Given the description of an element on the screen output the (x, y) to click on. 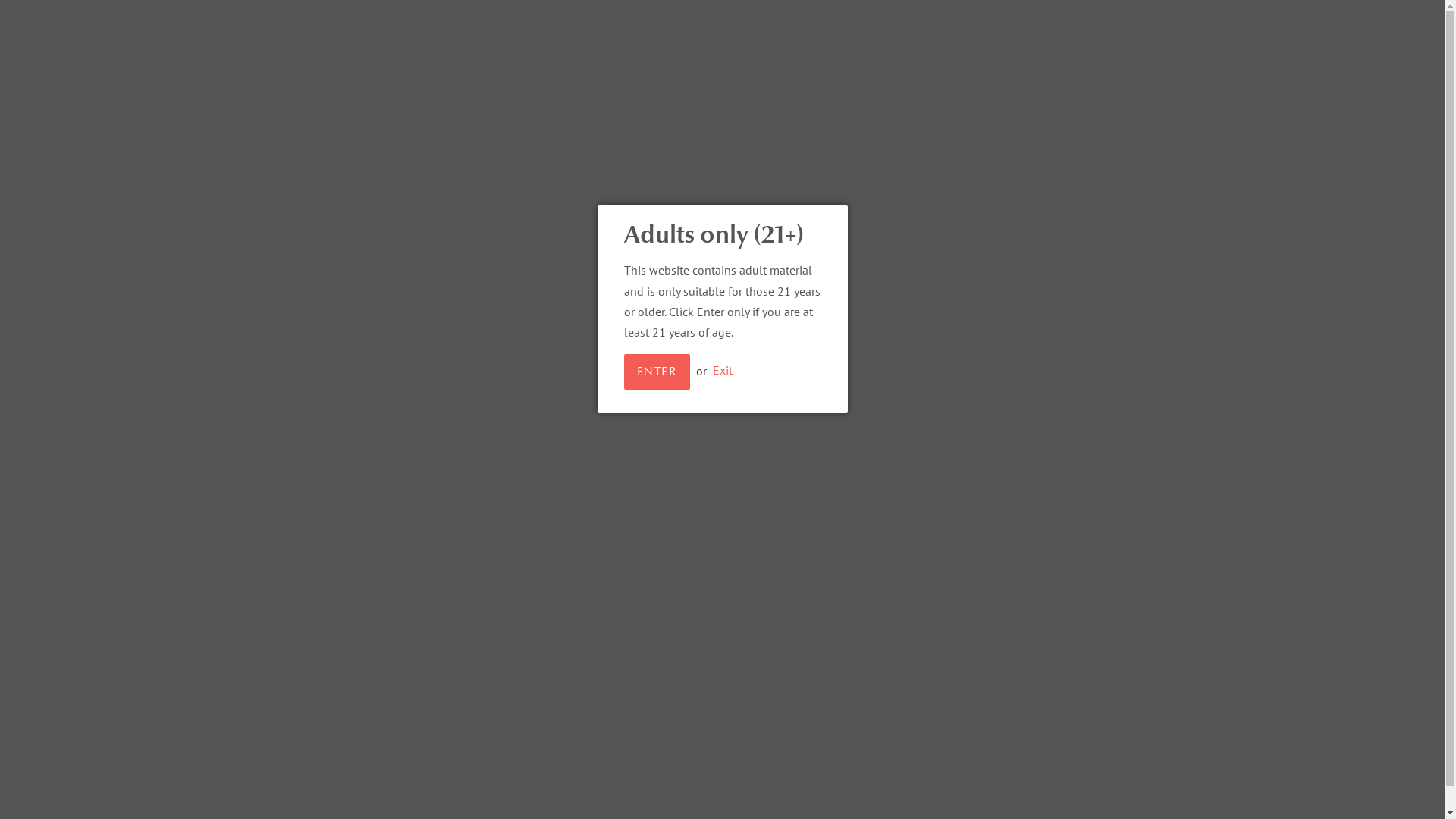
Subscribe Element type: text (279, 690)
Site Created by 3KP MARKETING Element type: text (794, 760)
Contact Us Element type: text (658, 620)
POPCORN Element type: text (1050, 118)
Refund Policy Element type: text (863, 601)
THE ULTIMATE PRE-PARTY CHECKLIST Element type: text (1100, 286)
Search Element type: text (648, 601)
HOME Element type: text (711, 118)
THE ULTIMATE PRE-PARTY CHECKLIST Element type: text (1092, 608)
ENTER Element type: text (656, 371)
Cart Element type: text (1059, 18)
GIFT BASKETS Element type: text (1157, 118)
Instagram Element type: text (443, 604)
Privacy Policy Element type: text (864, 620)
Site Created By Wake Hustle Grind + 3KPMARKETING Element type: text (717, 649)
Ask how to join our wine club Element type: text (305, 18)
THE ULTIMATE PRE-PARTY CHECKLIST Element type: text (421, 295)
Create account Element type: text (972, 18)
RED WINES Element type: text (935, 118)
Latest News Element type: text (1063, 571)
Terms of service Element type: text (869, 641)
2YouWines Element type: text (689, 760)
Exit Element type: text (722, 370)
WHITE WINES Element type: text (809, 118)
SEARCH Element type: text (1097, 18)
Log in Element type: text (899, 18)
